Given the description of an element on the screen output the (x, y) to click on. 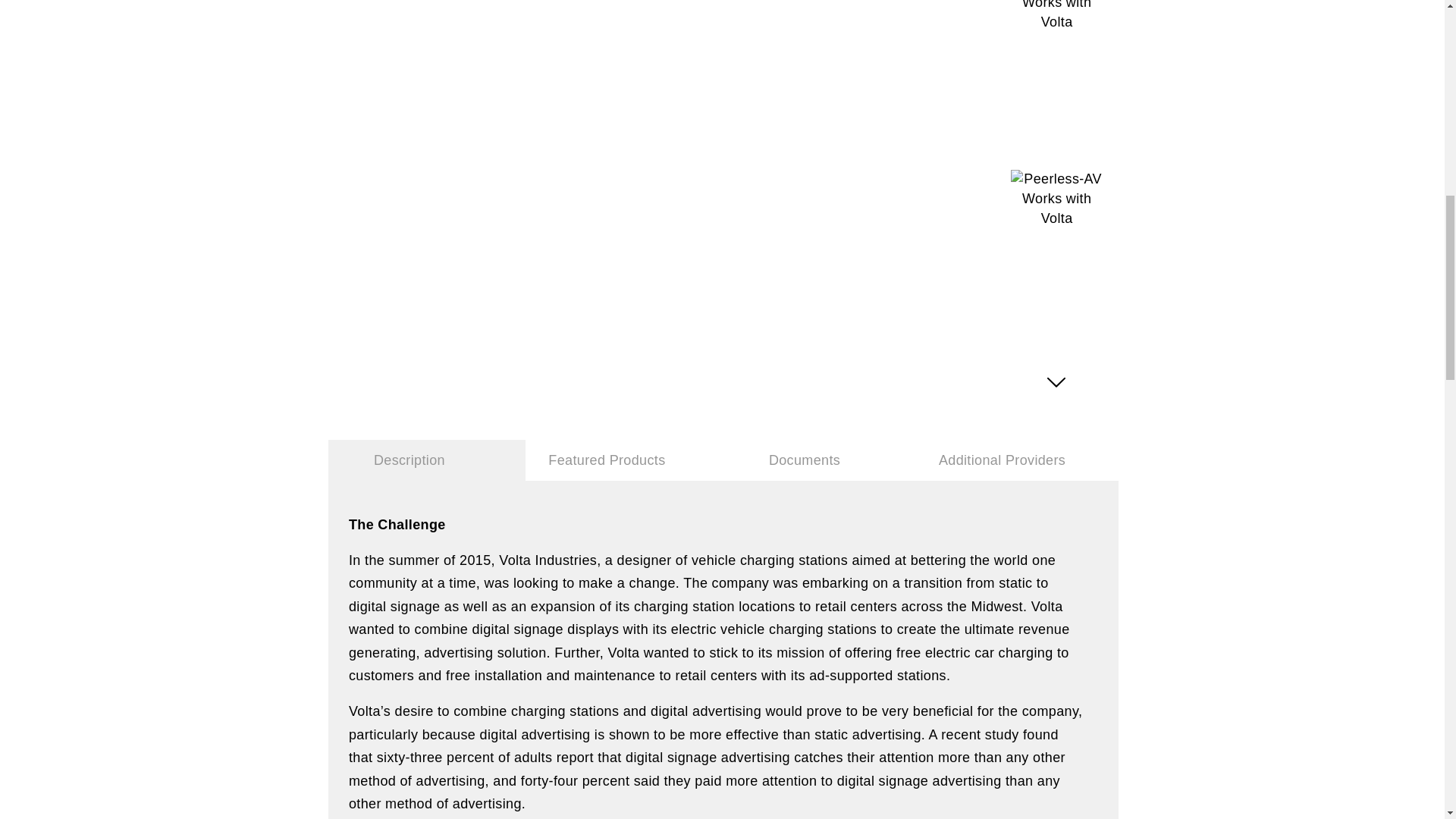
Image 4 of 4 (1056, 197)
Image 3 of 4 (1056, 15)
